Given the description of an element on the screen output the (x, y) to click on. 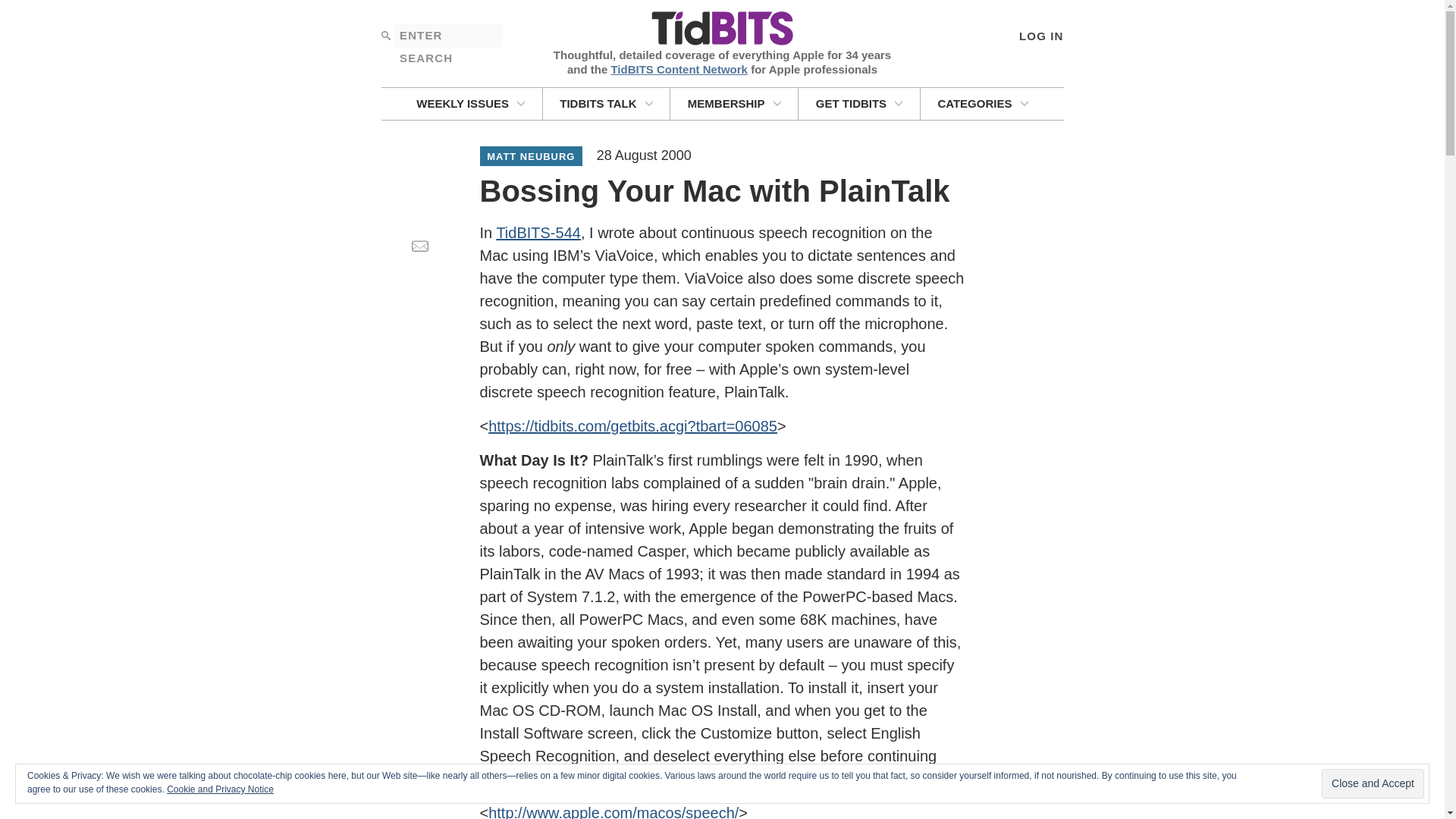
Search (385, 35)
TIDBITS TALK (606, 103)
Click to email a link to a friend (419, 246)
CATEGORIES (982, 103)
LOG IN (1040, 34)
MEMBERSHIP (733, 103)
WEEKLY ISSUES (469, 103)
GET TIDBITS (858, 103)
Close and Accept (1372, 783)
TidBITS (721, 28)
TidBITS Content Network (679, 68)
